Given the description of an element on the screen output the (x, y) to click on. 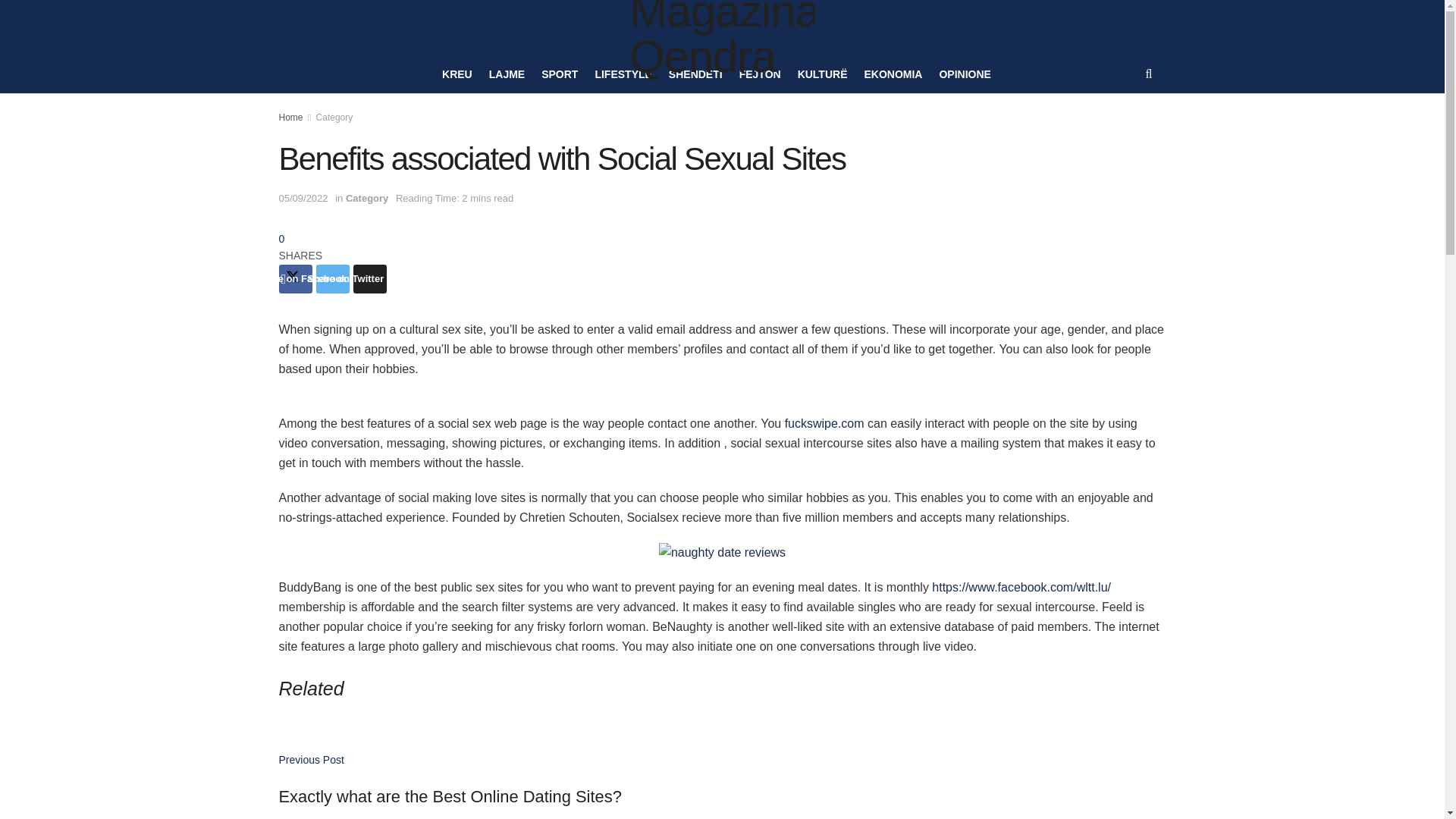
LIFESTYLE (622, 74)
EKONOMIA (892, 74)
fuckswipe.com (824, 422)
FEJTON (759, 74)
Share on Twitter (332, 278)
LAJME (506, 74)
SHENDETI (695, 74)
Share on Facebook (296, 278)
Category (367, 197)
Home (290, 117)
